Given the description of an element on the screen output the (x, y) to click on. 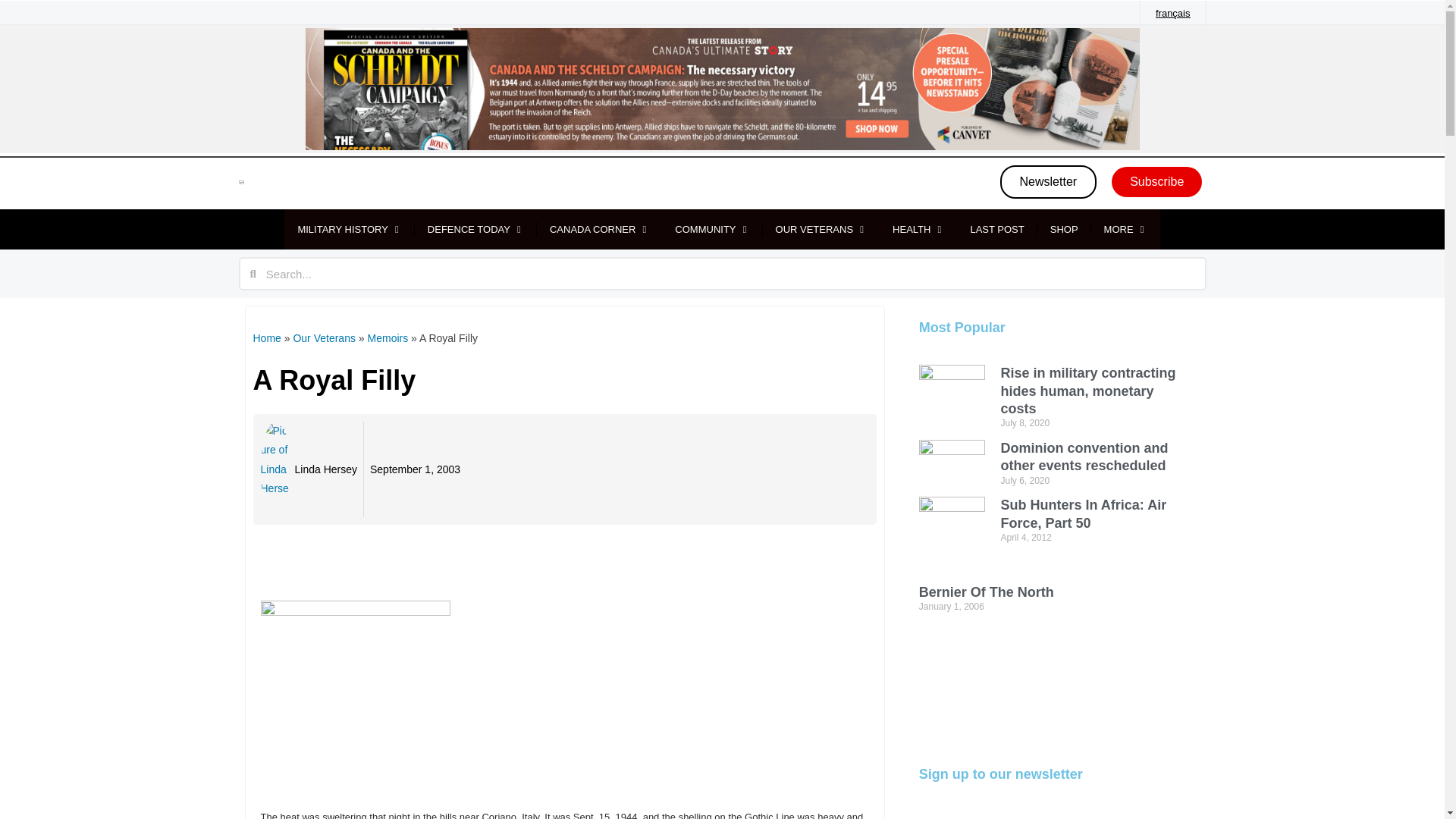
Subscribe (1157, 182)
Newsletter (1048, 182)
MILITARY HISTORY (342, 229)
